Given the description of an element on the screen output the (x, y) to click on. 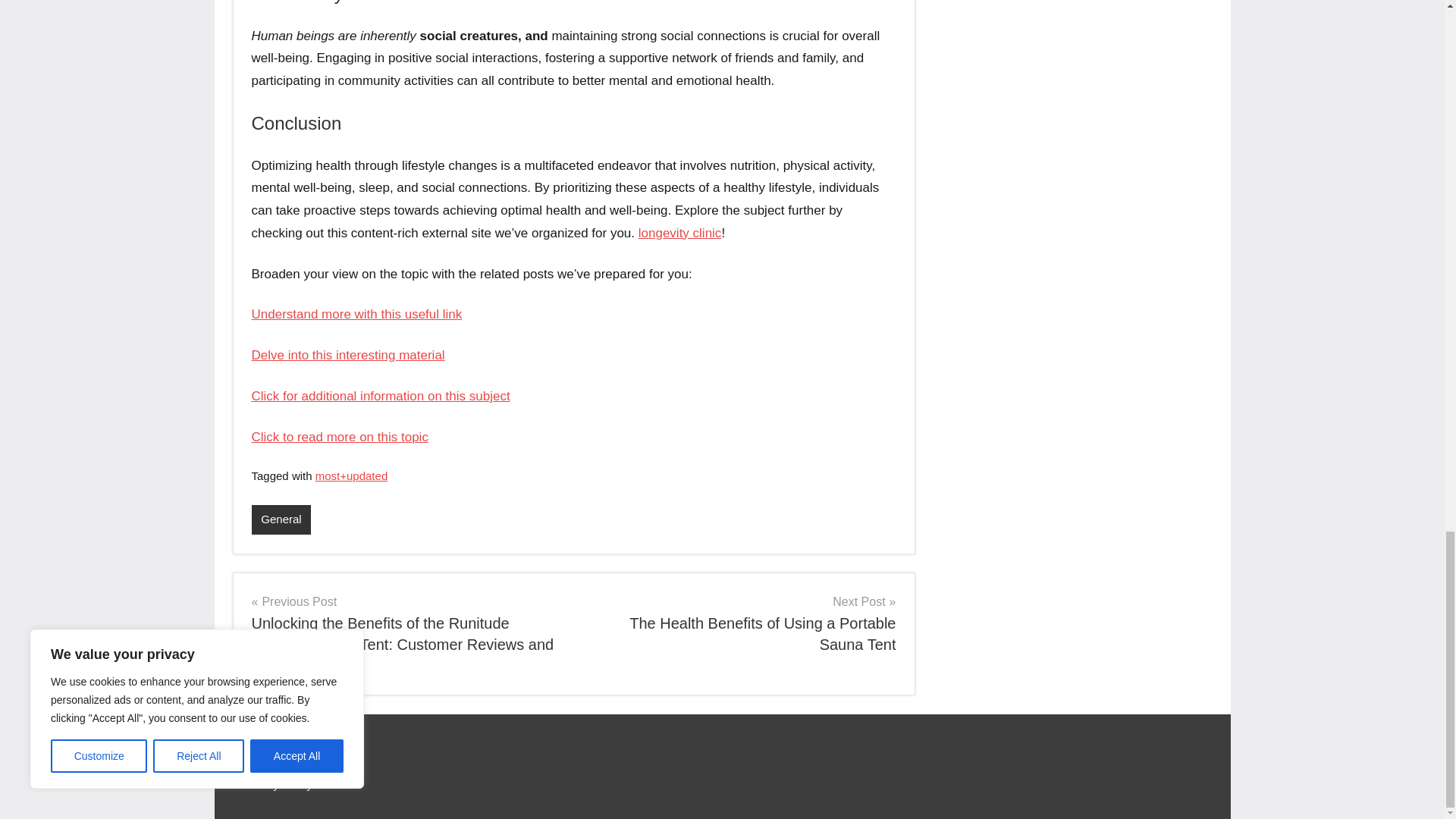
Delve into this interesting material (348, 355)
Click for additional information on this subject (381, 396)
Understand more with this useful link (357, 314)
Click to read more on this topic (339, 436)
longevity clinic (680, 233)
General (740, 623)
